Given the description of an element on the screen output the (x, y) to click on. 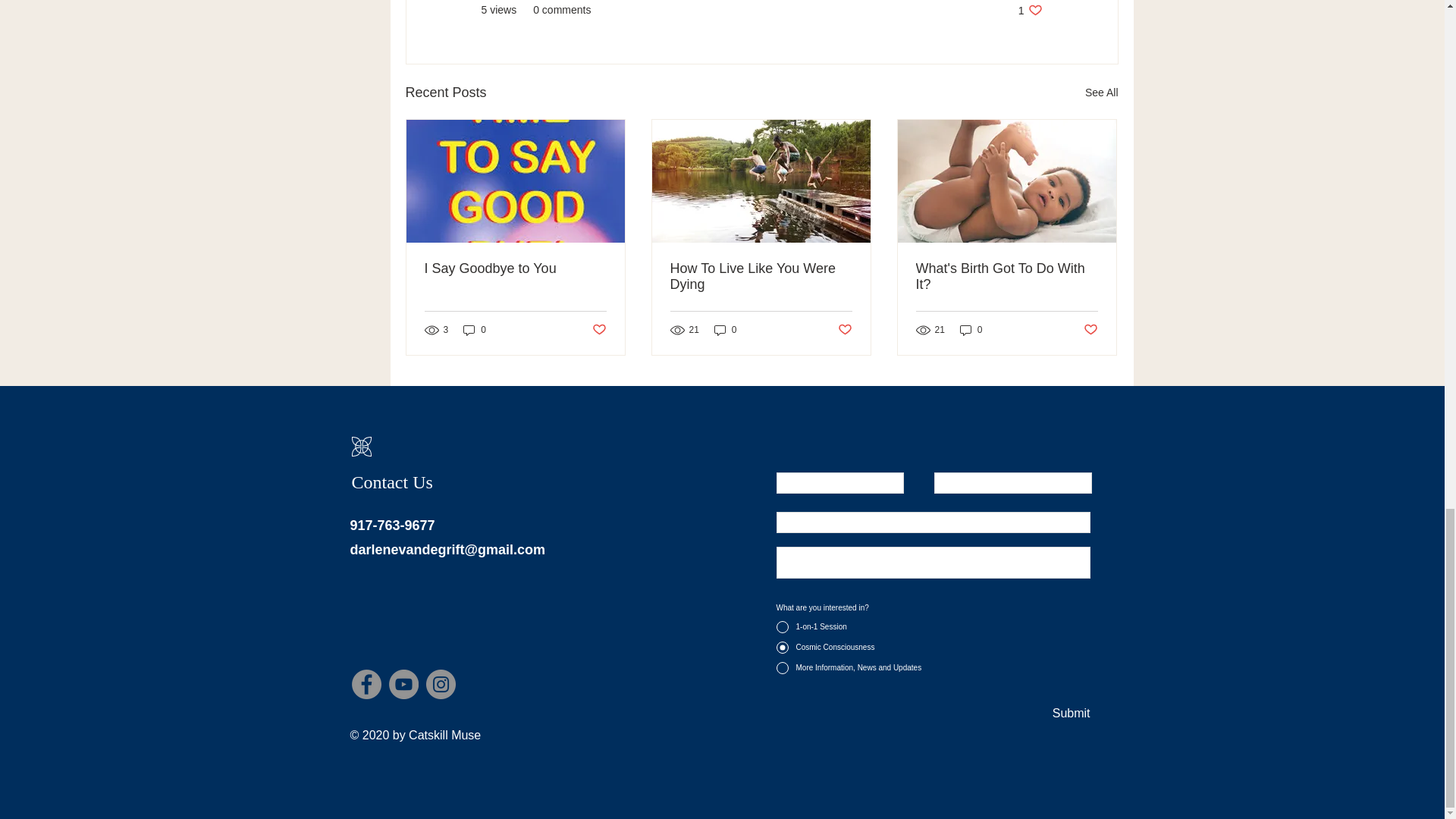
What's Birth Got To Do With It? (1006, 276)
See All (1101, 92)
0 (971, 329)
How To Live Like You Were Dying (760, 276)
Submit (1069, 713)
Post not marked as liked (598, 330)
I Say Goodbye to You (1029, 10)
Post not marked as liked (516, 268)
917-763-9677 (844, 330)
